Given the description of an element on the screen output the (x, y) to click on. 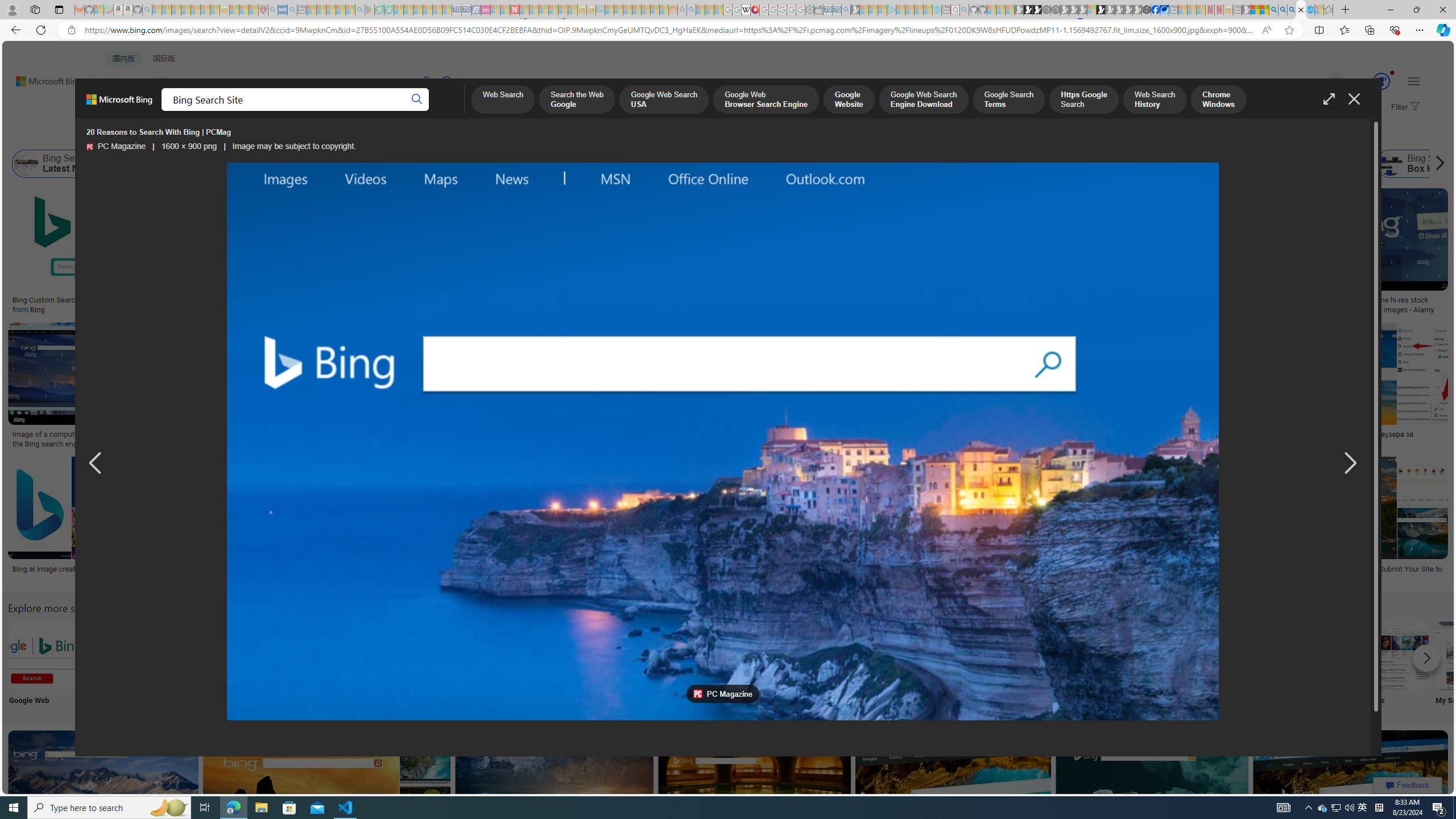
Bing T-Shirts (802, 227)
Bing Clip ART SEARCH Clip Art (493, 665)
Bing Home Search Site (1294, 163)
Bar Install (944, 665)
T-Shirts (802, 227)
Microsoft Bing, Back to Bing search (118, 104)
Top 10 Search engine | REALITYPOD - Part 3Save (941, 387)
ACADEMIC (360, 111)
Bing Intelligent Search Intelligent (1093, 665)
Clip Art (493, 665)
